Given the description of an element on the screen output the (x, y) to click on. 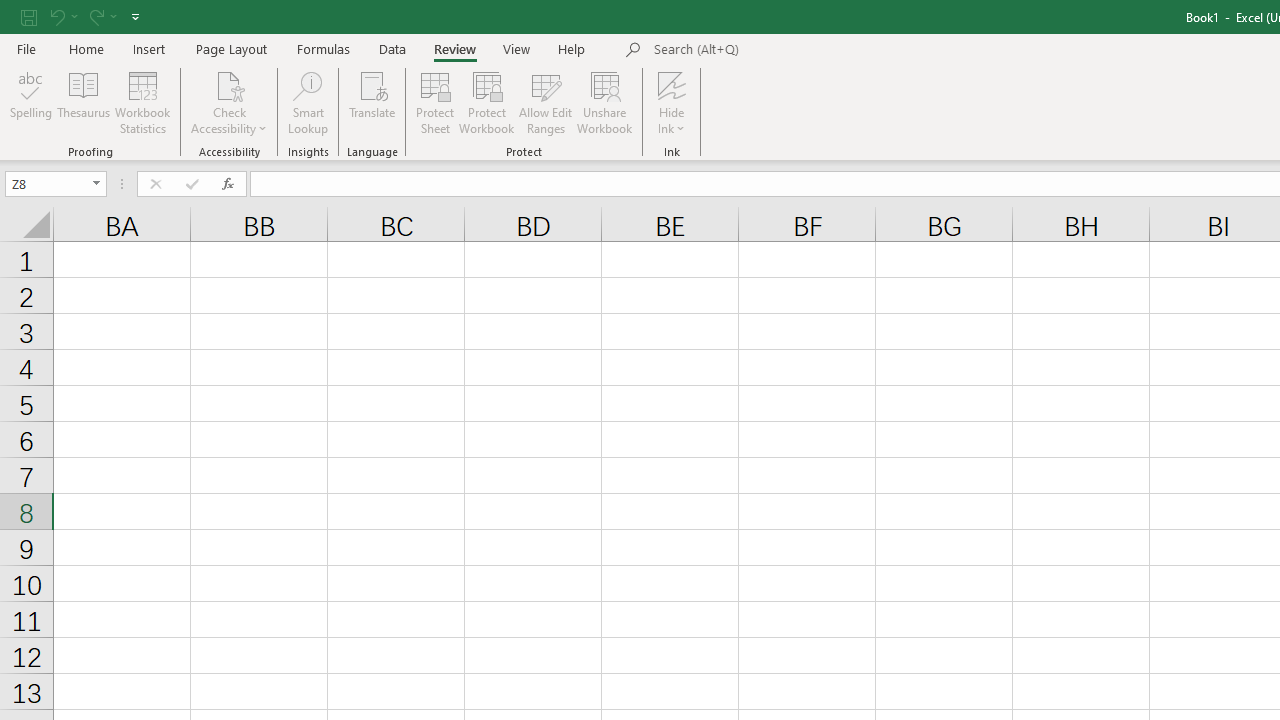
Translate (372, 102)
Thesaurus... (83, 102)
Protect Workbook... (486, 102)
Workbook Statistics (142, 102)
